Given the description of an element on the screen output the (x, y) to click on. 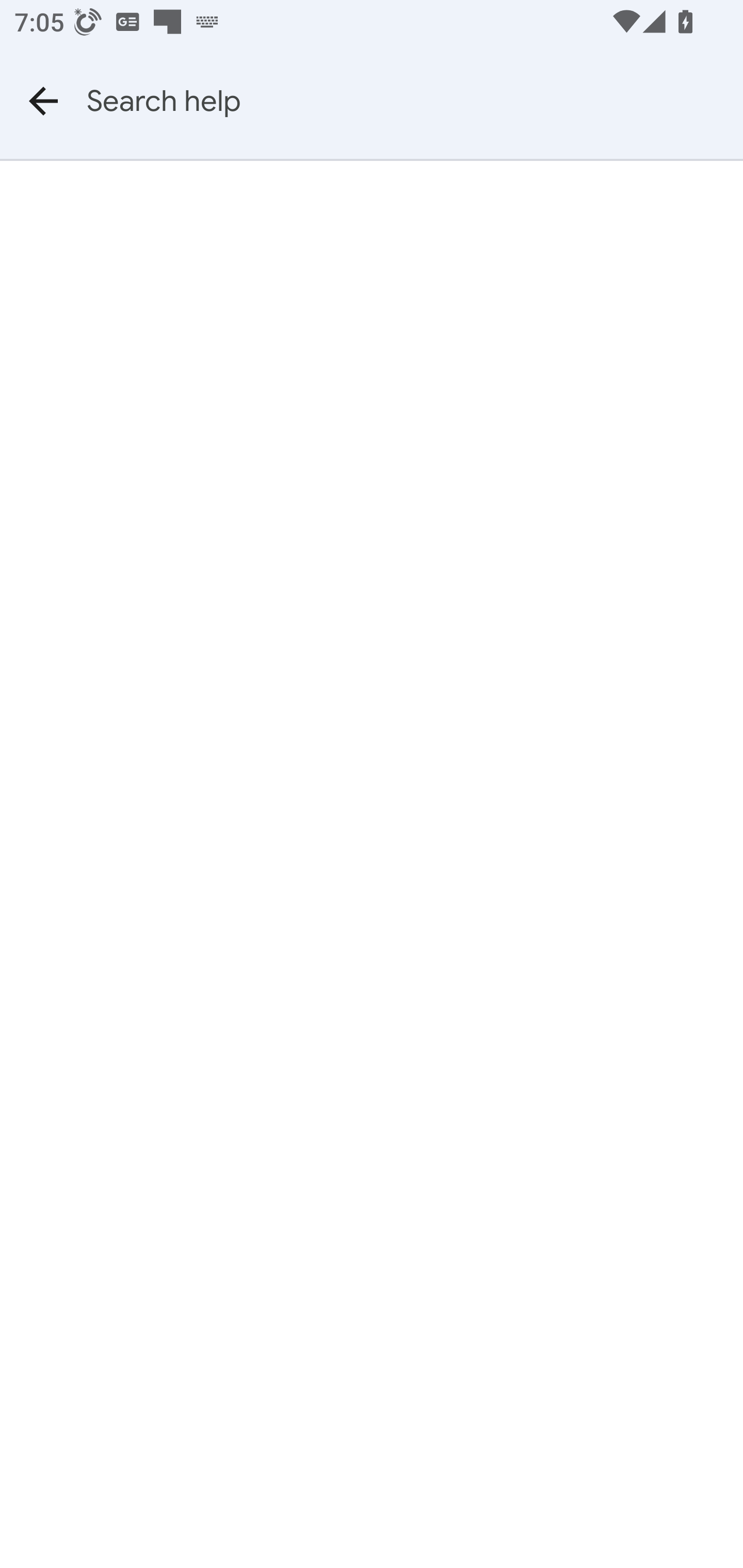
Navigate up (43, 101)
Search help (414, 101)
